Given the description of an element on the screen output the (x, y) to click on. 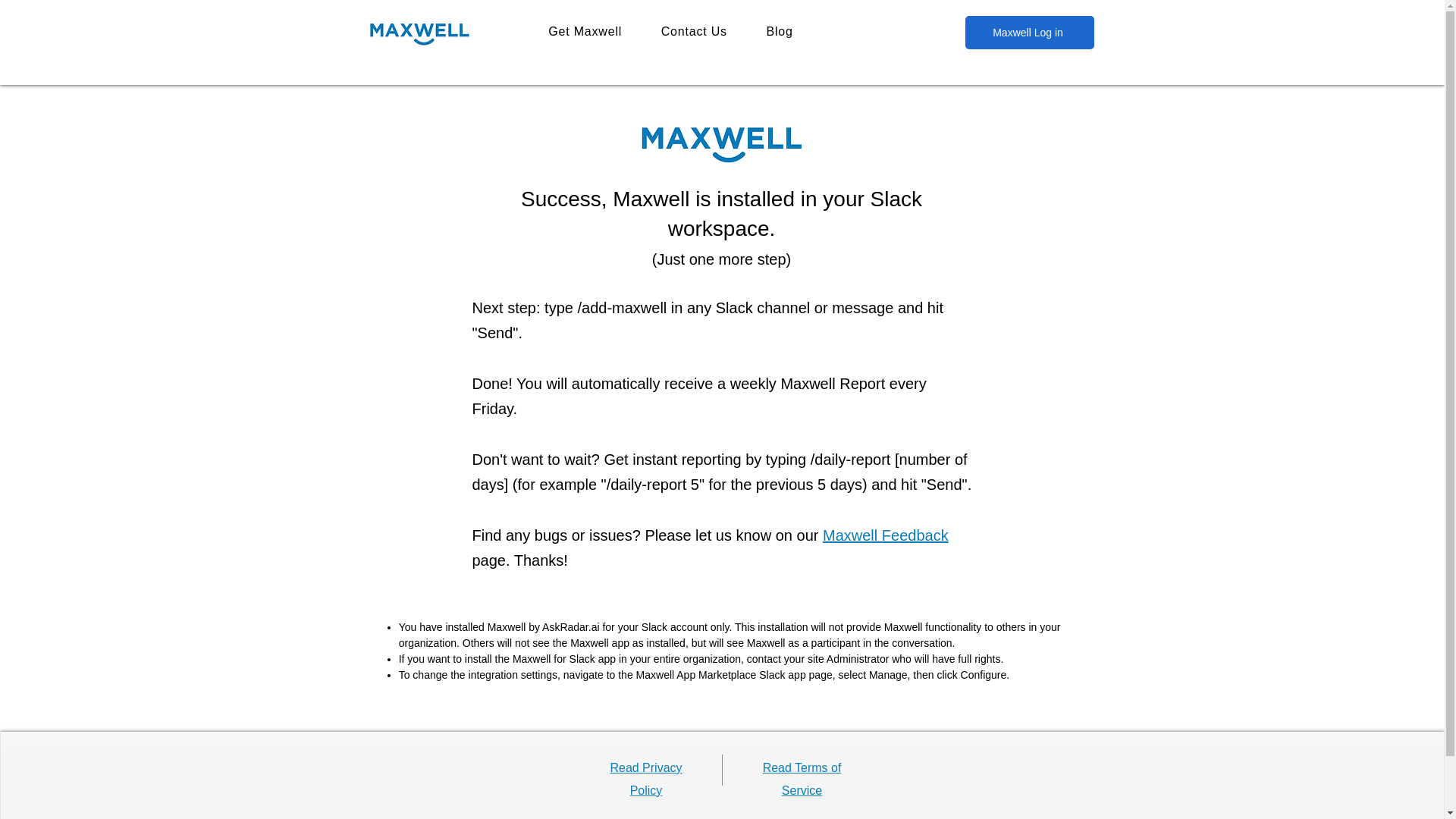
Contact Us (694, 31)
Maxwell Feedback (885, 535)
Maxwell Log in (1028, 32)
Get Maxwell (585, 31)
Read Privacy Policy (645, 778)
Read Terms of Service (801, 778)
Blog (779, 31)
